Given the description of an element on the screen output the (x, y) to click on. 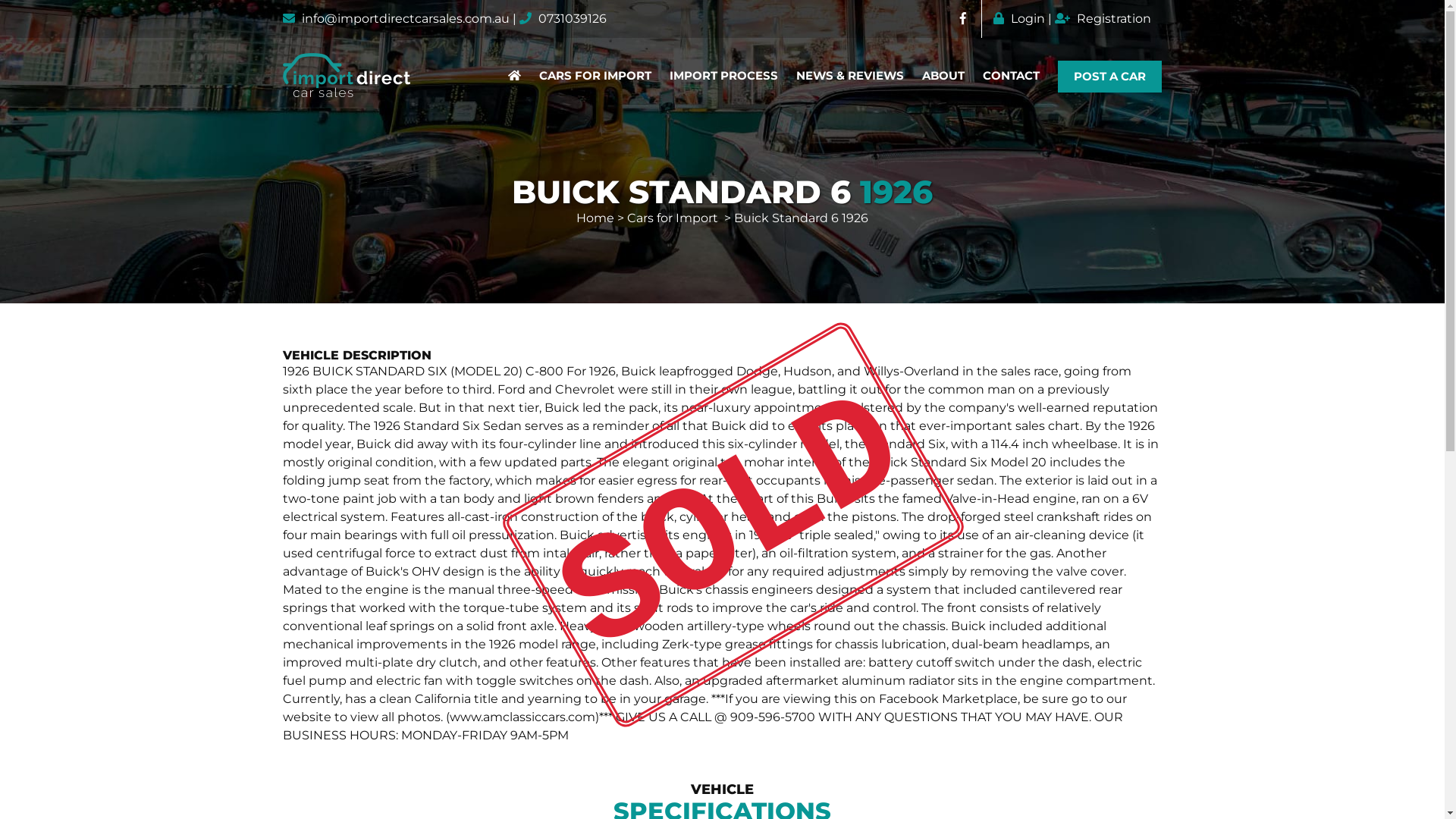
CARS FOR IMPORT Element type: text (595, 75)
0731039126 Element type: text (572, 18)
NEWS & REVIEWS Element type: text (849, 75)
Login Element type: text (1018, 18)
ABOUT Element type: text (943, 75)
POST A CAR Element type: text (1109, 76)
Cars for Import Element type: text (672, 217)
Registration Element type: text (1102, 18)
CONTACT Element type: text (1010, 75)
IMPORT PROCESS Element type: text (723, 75)
Home Element type: text (595, 217)
info@importdirectcarsales.com.au Element type: text (405, 18)
